Given the description of an element on the screen output the (x, y) to click on. 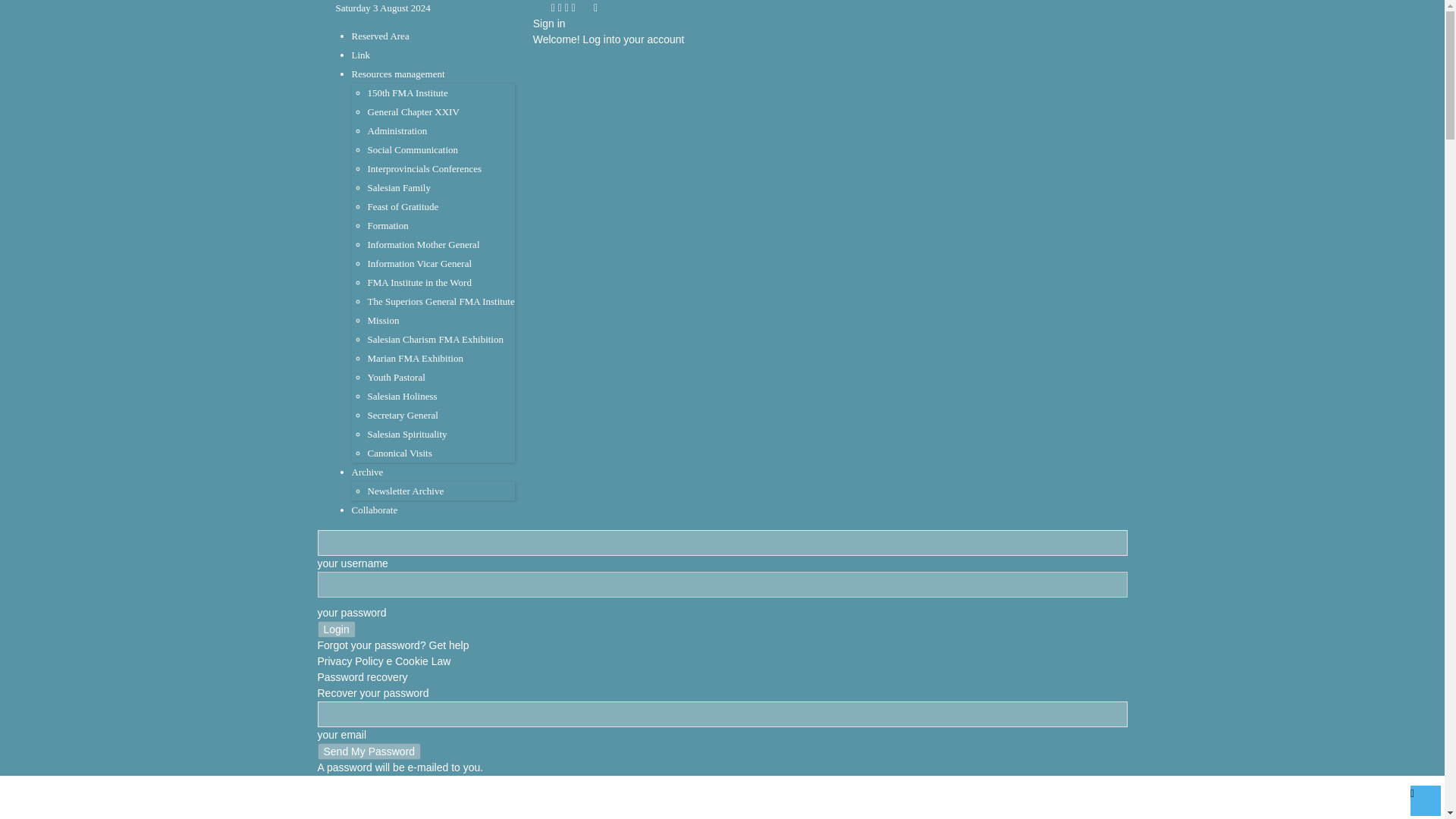
Login (336, 629)
Send My Password (368, 751)
